Given the description of an element on the screen output the (x, y) to click on. 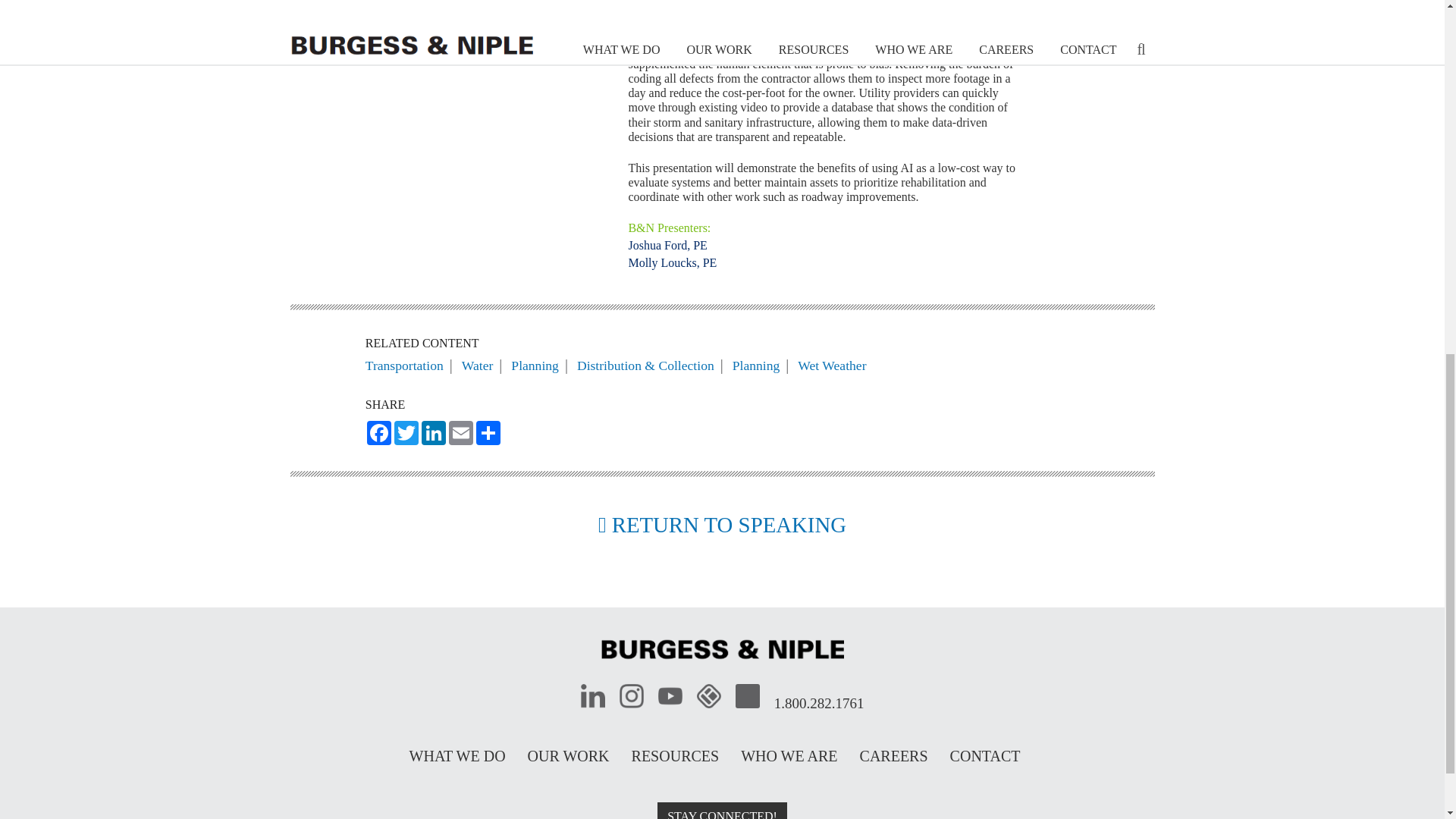
1.800.282.1761 (819, 695)
CAREERS (894, 755)
Follow us on SoundCloud (747, 695)
Follow us on LinkedIn (592, 695)
Wet Weather (831, 365)
Follow us on YouTube (670, 695)
WHO WE ARE (789, 755)
Email (460, 432)
